Given the description of an element on the screen output the (x, y) to click on. 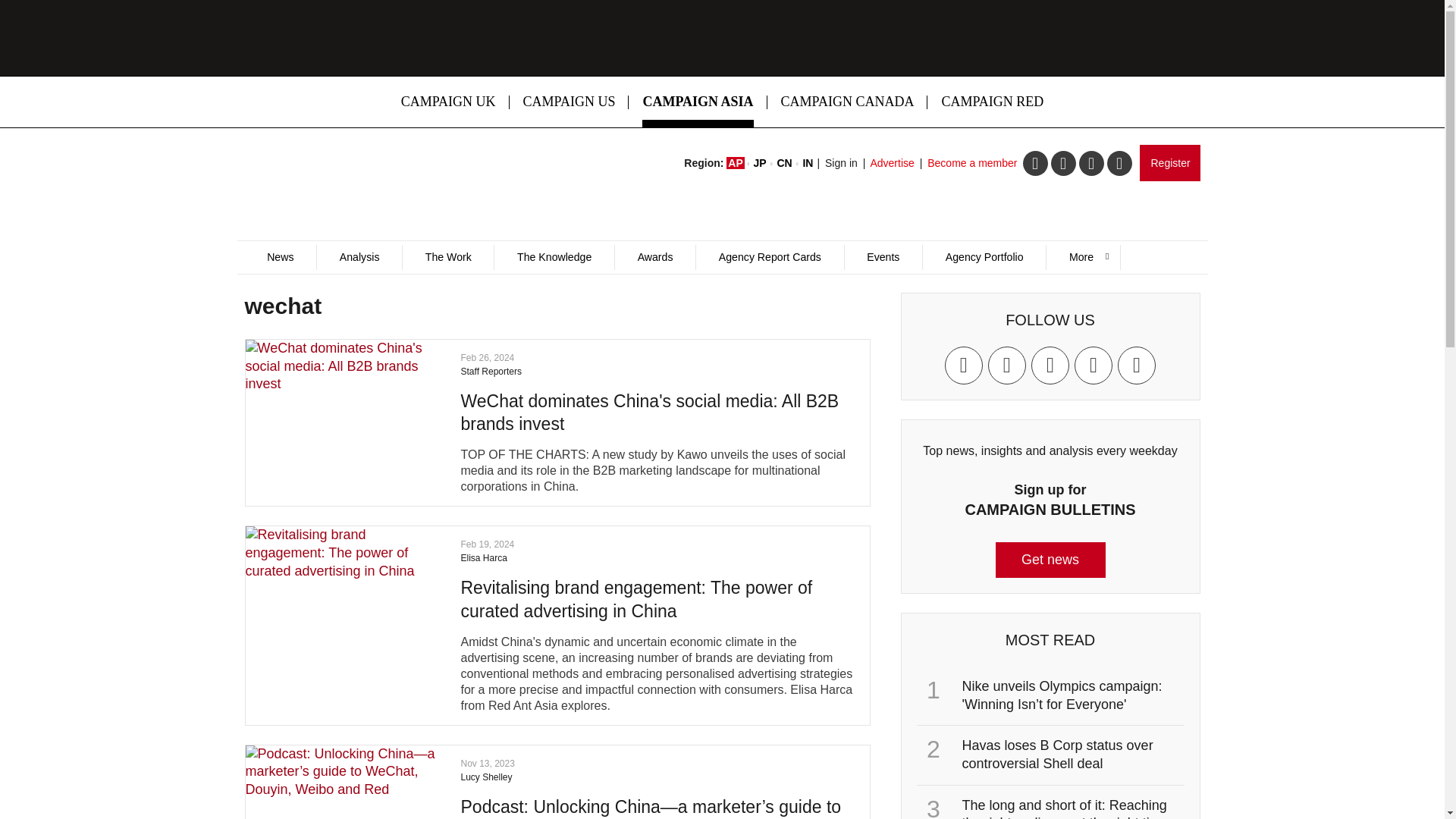
JP (760, 162)
Awards (654, 257)
News (279, 257)
AP (735, 162)
Analysis (358, 257)
IN (806, 162)
Register (1168, 162)
Become a member (971, 162)
Events (883, 257)
CAMPAIGN UK (448, 101)
Search (952, 310)
Awards (654, 257)
Advertise (891, 162)
Agency Portfolio (983, 257)
Agency Report Cards (769, 257)
